Given the description of an element on the screen output the (x, y) to click on. 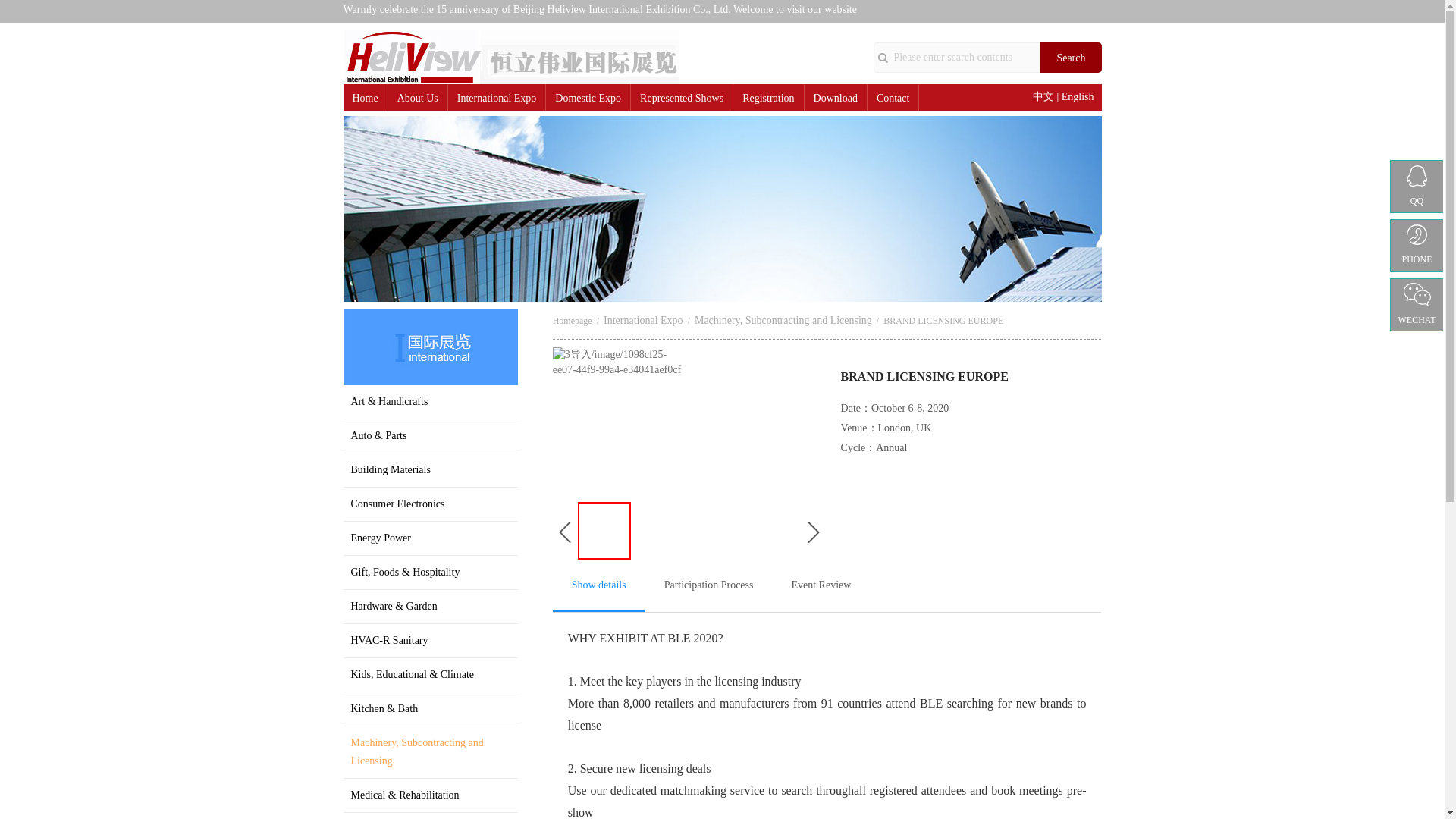
International Expo (497, 98)
QQ (1416, 186)
PHONE (1416, 245)
Represented Shows (681, 98)
Home (364, 98)
About Us (417, 98)
Domestic Expo (587, 98)
